Given the description of an element on the screen output the (x, y) to click on. 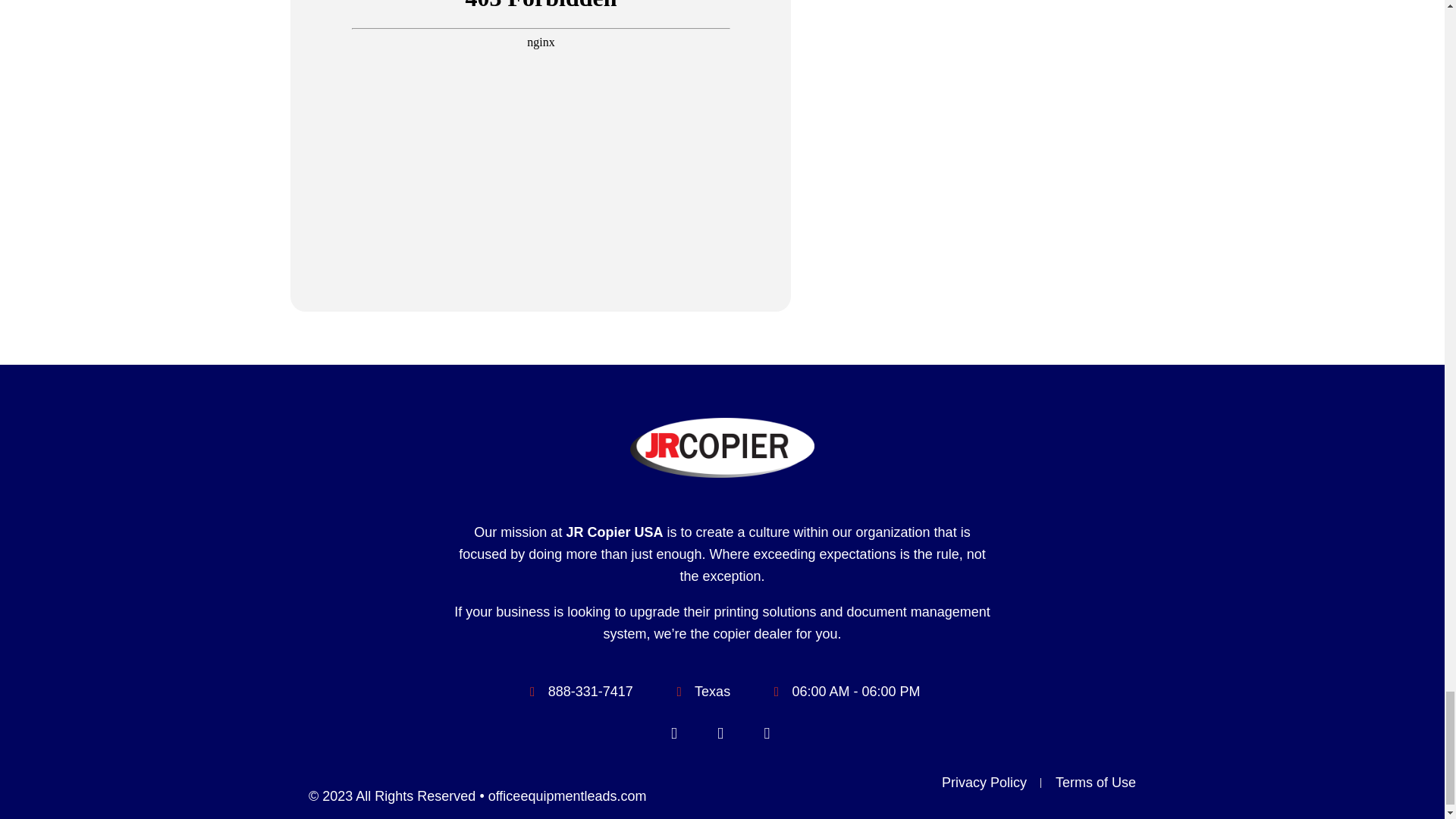
Quote Form (541, 45)
Texas (983, 156)
